Given the description of an element on the screen output the (x, y) to click on. 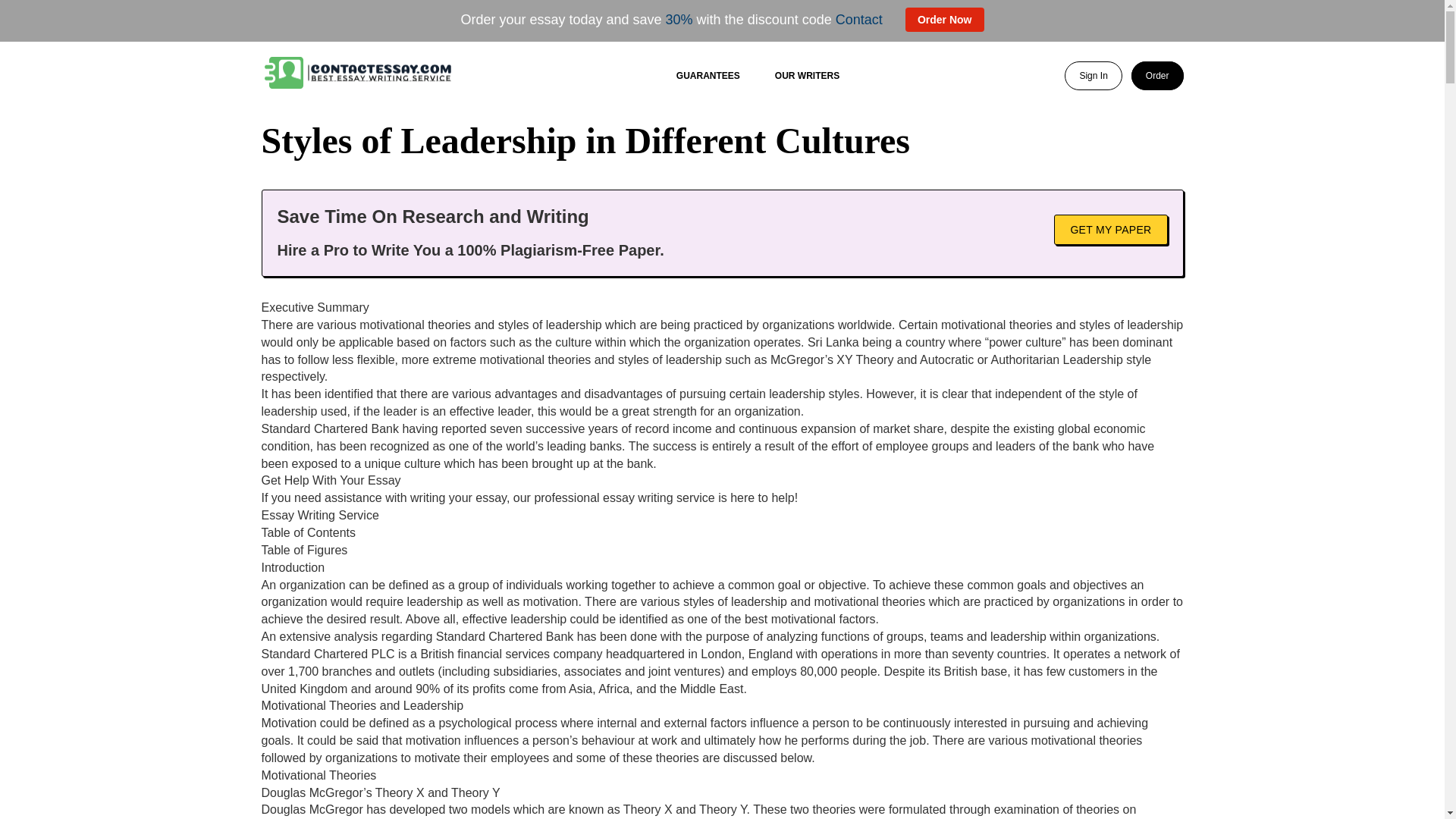
GET MY PAPER (1110, 228)
GUARANTEES (708, 75)
OUR WRITERS (807, 75)
Order Now (944, 19)
Sign In (1092, 75)
Order (1157, 75)
